Given the description of an element on the screen output the (x, y) to click on. 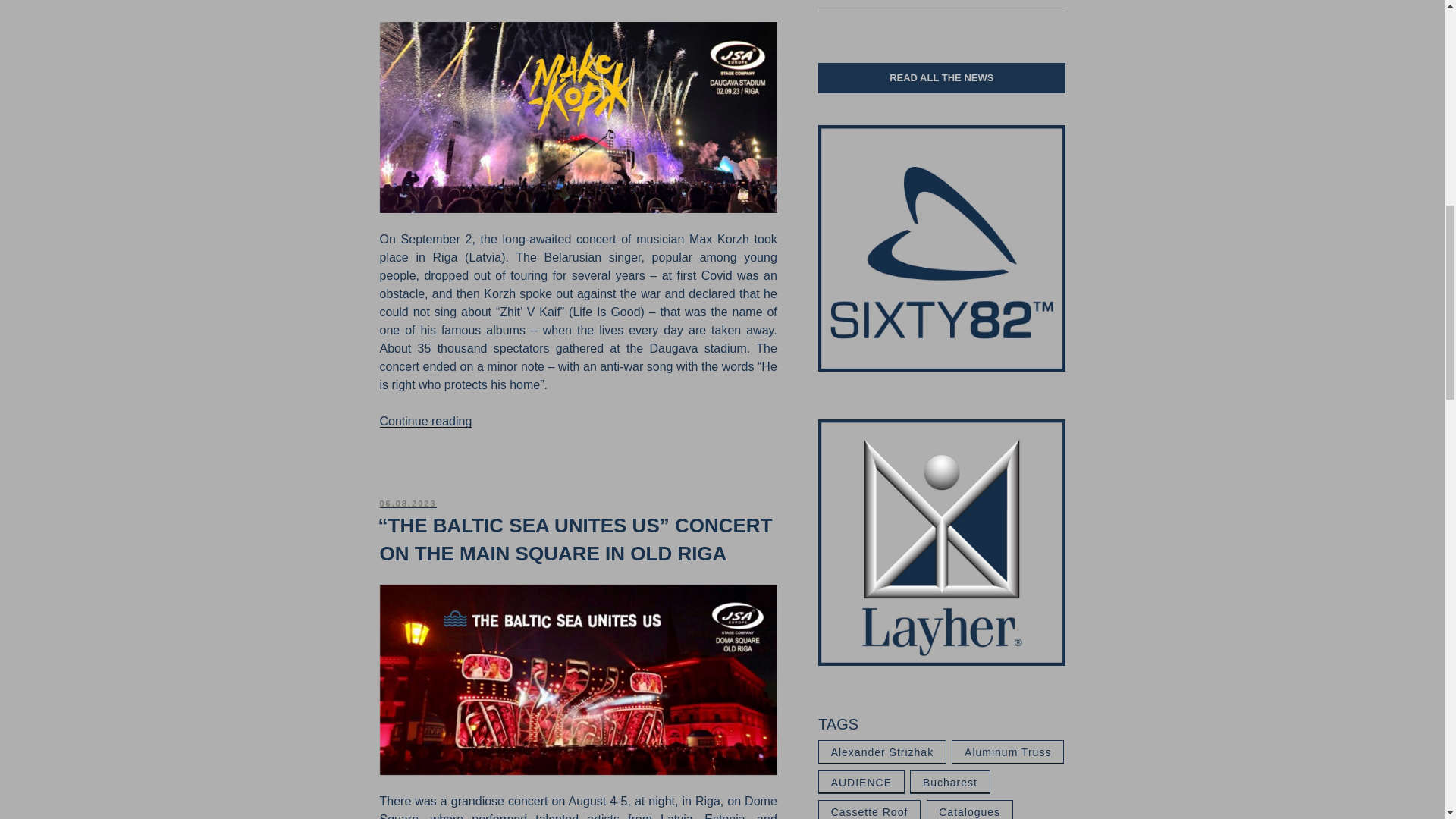
READ ALL THE NEWS (941, 78)
06.08.2023 (406, 502)
